Given the description of an element on the screen output the (x, y) to click on. 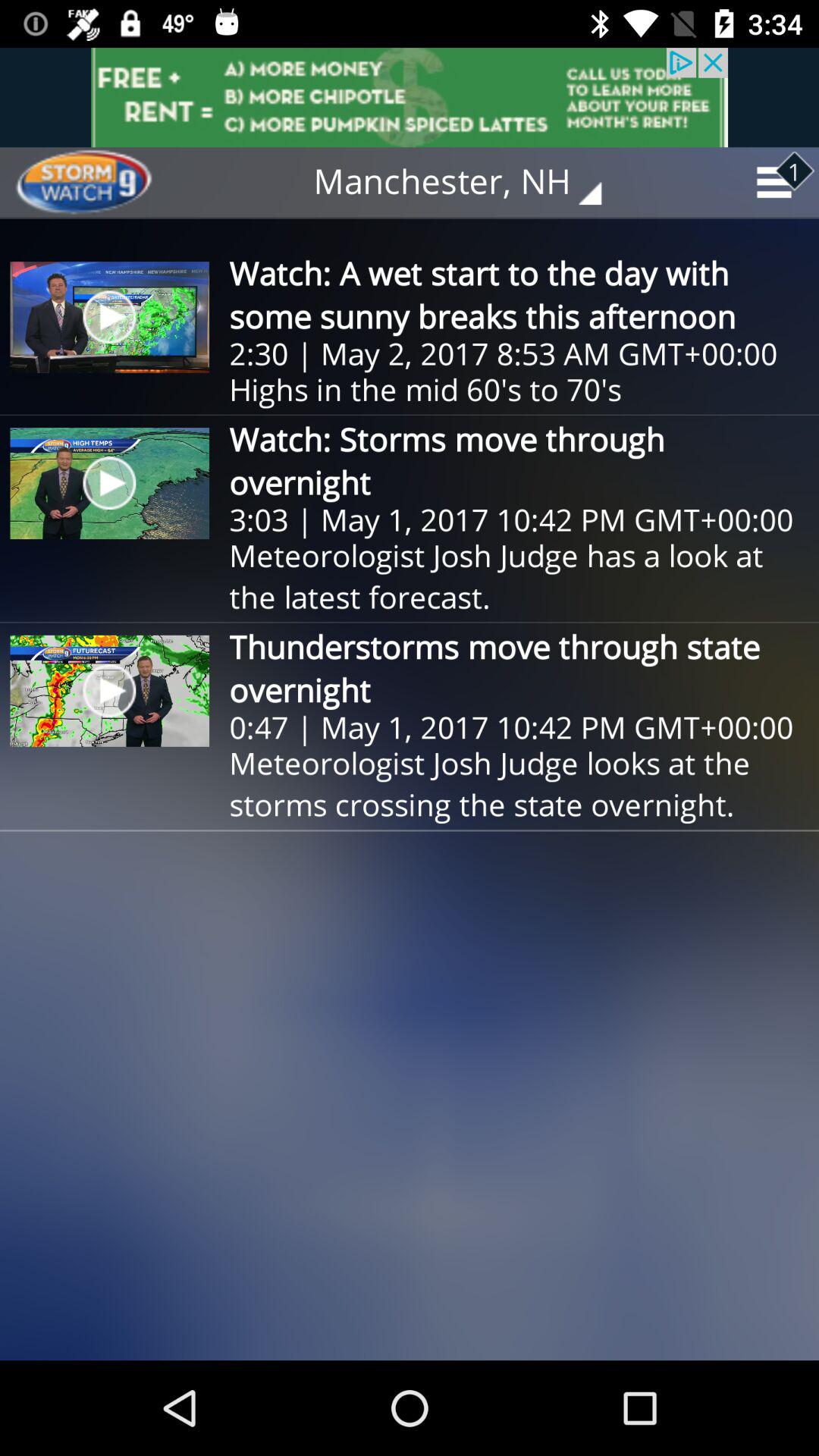
scroll to the manchester, nh (468, 182)
